Given the description of an element on the screen output the (x, y) to click on. 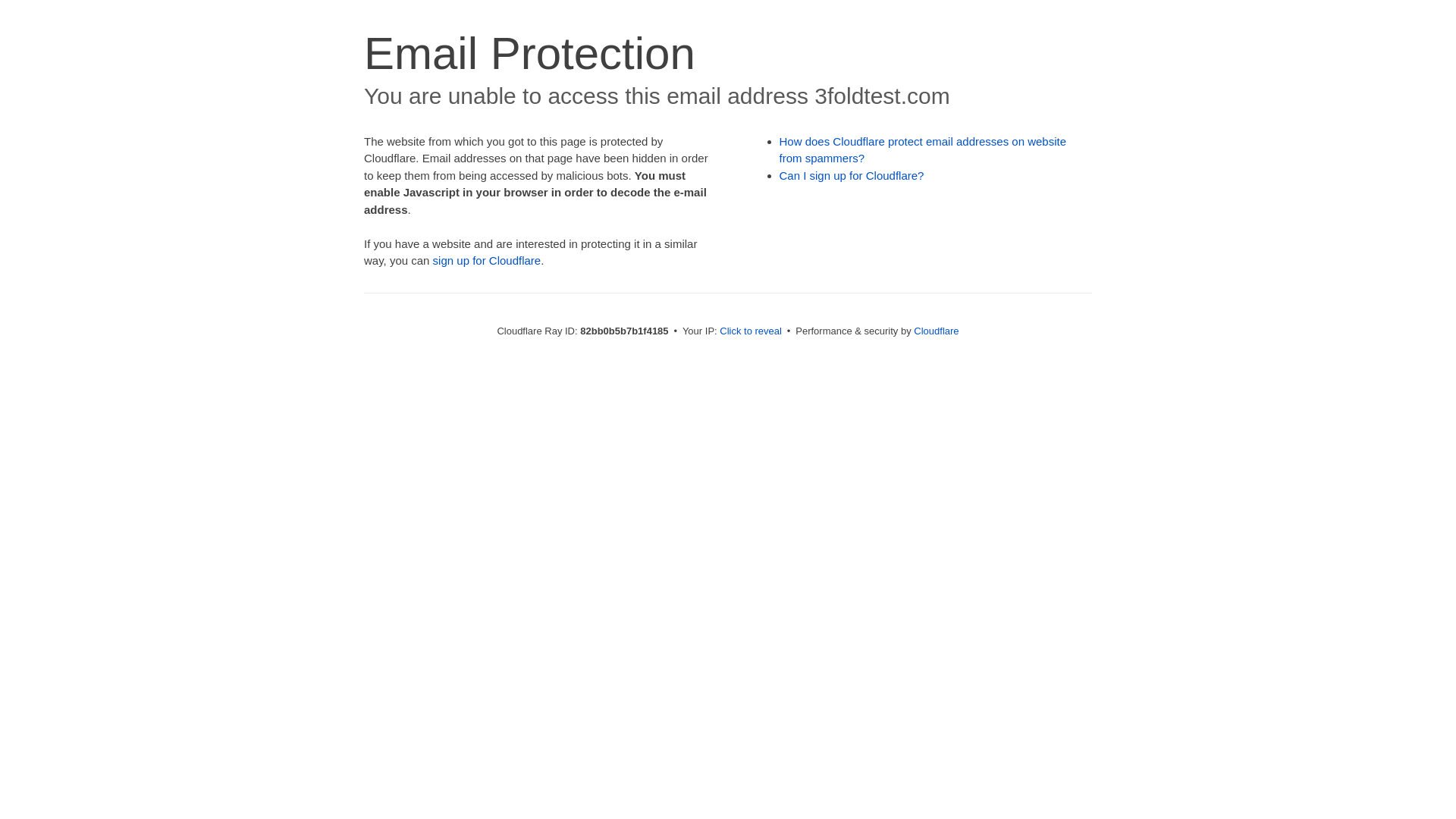
sign up for Cloudflare Element type: text (487, 260)
Click to reveal Element type: text (750, 330)
Can I sign up for Cloudflare? Element type: text (851, 175)
Cloudflare Element type: text (935, 330)
